Given the description of an element on the screen output the (x, y) to click on. 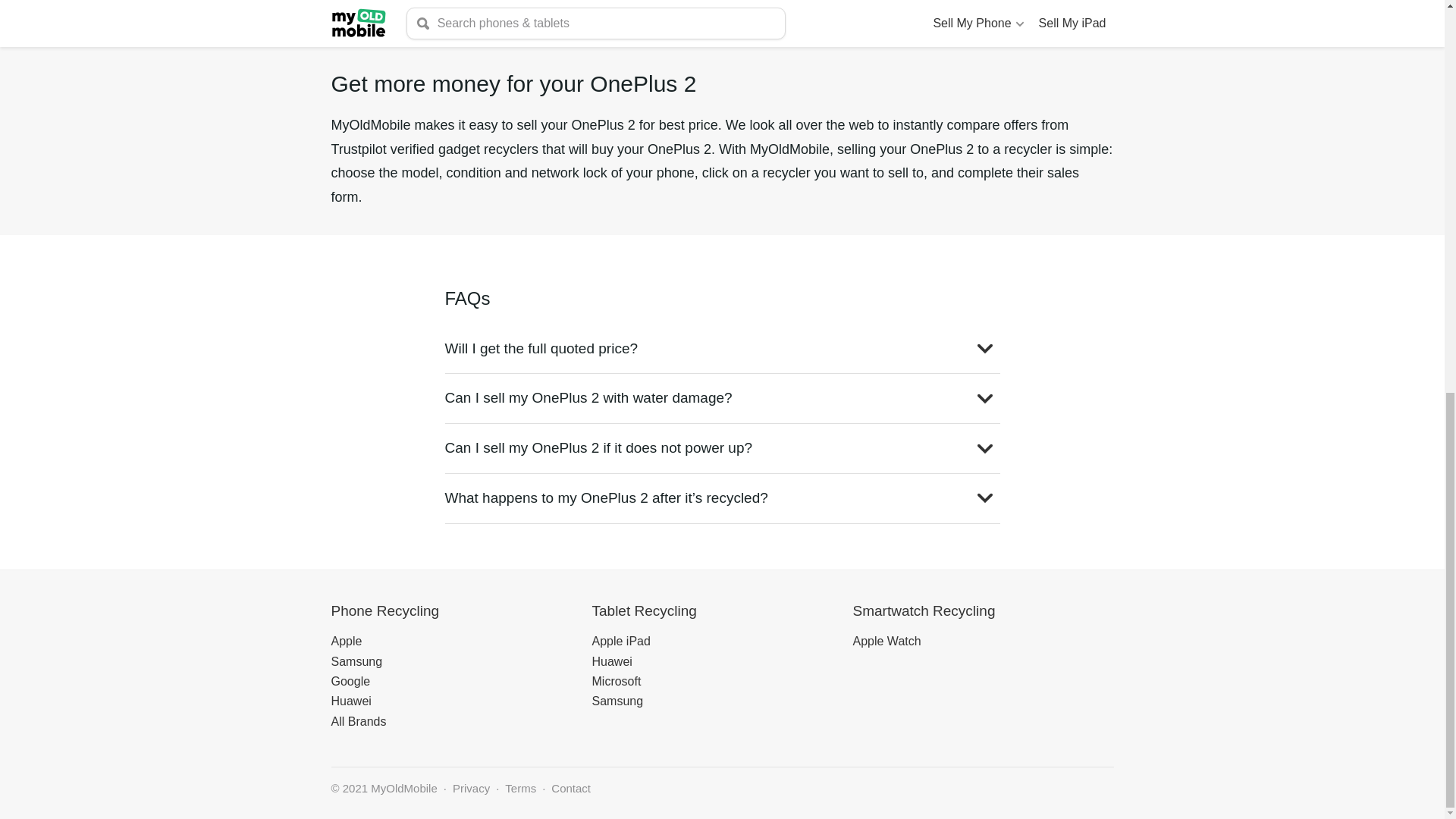
Apple iPad (620, 640)
Phone Recycling (384, 610)
Contact (571, 788)
Show answer (983, 498)
Microsoft (615, 680)
Google (349, 680)
Huawei (350, 700)
Apple Watch (885, 640)
Samsung (617, 700)
Show answer (983, 398)
Smartwatch Recycling (922, 610)
Privacy (470, 788)
Samsung (355, 661)
Show answer (983, 448)
All Brands (357, 721)
